Given the description of an element on the screen output the (x, y) to click on. 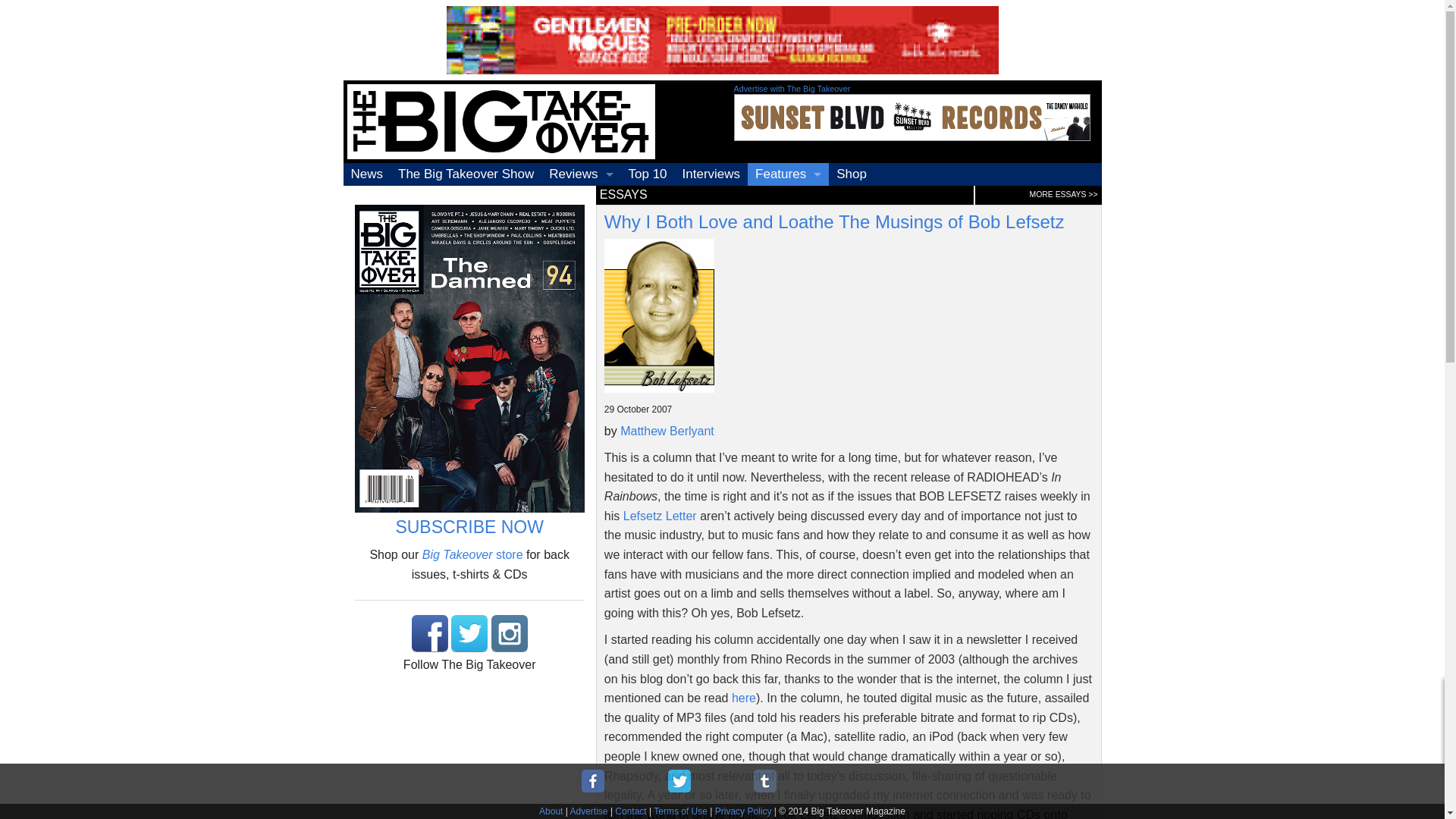
Lefsetz Letter (660, 515)
Concerts (580, 219)
Essays (788, 219)
Features (788, 173)
Books (580, 264)
Shop (851, 173)
here (743, 697)
Recordings (580, 196)
The Big Takeover Show (465, 173)
News (366, 173)
Follow us on Instagram (509, 633)
Interviews (711, 173)
Video (580, 241)
SUBSCRIBE NOW (468, 526)
Reviews (580, 173)
